Given the description of an element on the screen output the (x, y) to click on. 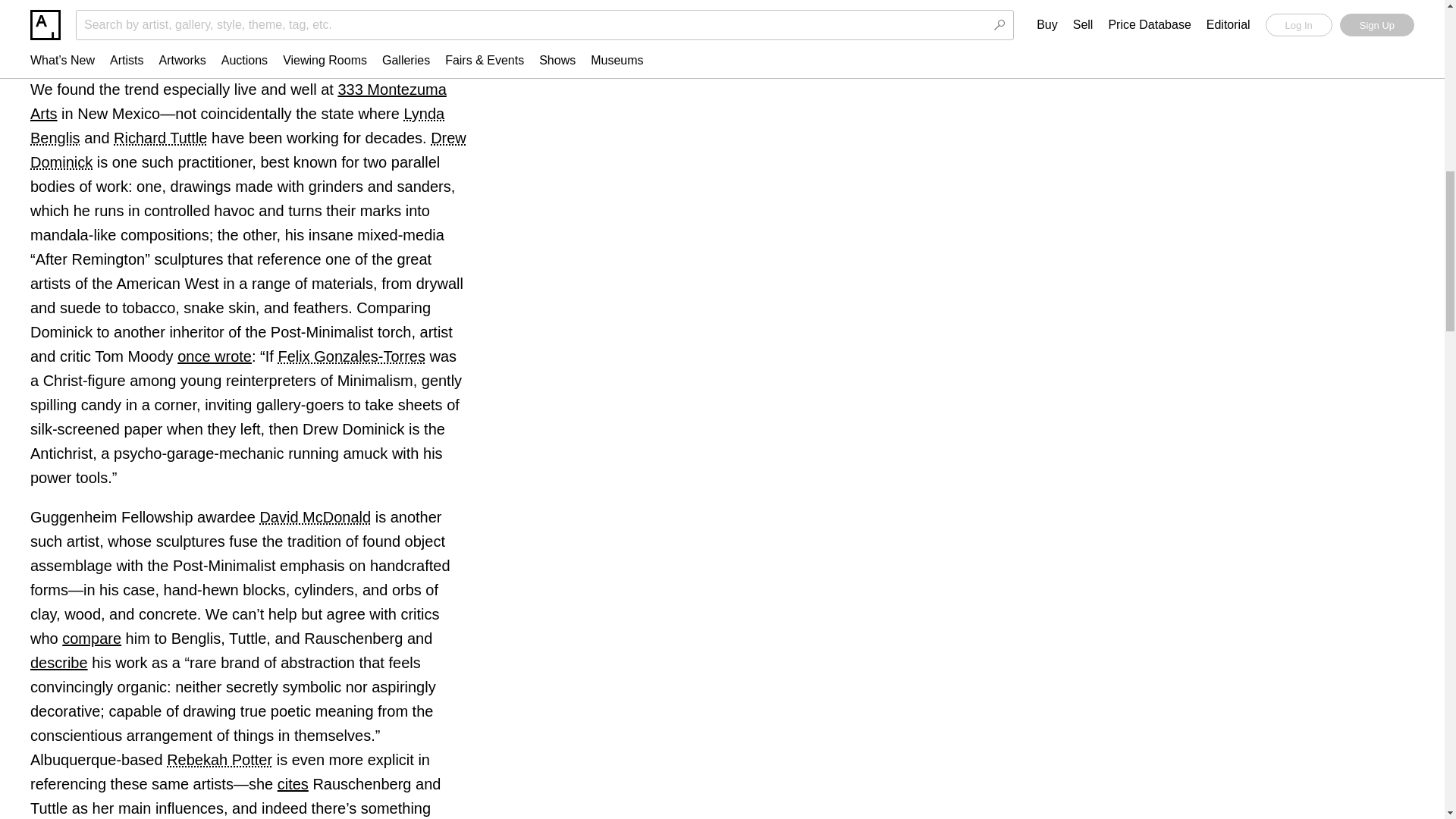
333 Montezuma Arts (238, 101)
Felix Gonzales-Torres (351, 356)
Drew Dominick (247, 149)
once wrote (214, 356)
Richard Tuttle (159, 137)
3rd party ad content (1189, 6)
Lynda Benglis (237, 125)
compare (91, 638)
David McDonald (315, 516)
